Given the description of an element on the screen output the (x, y) to click on. 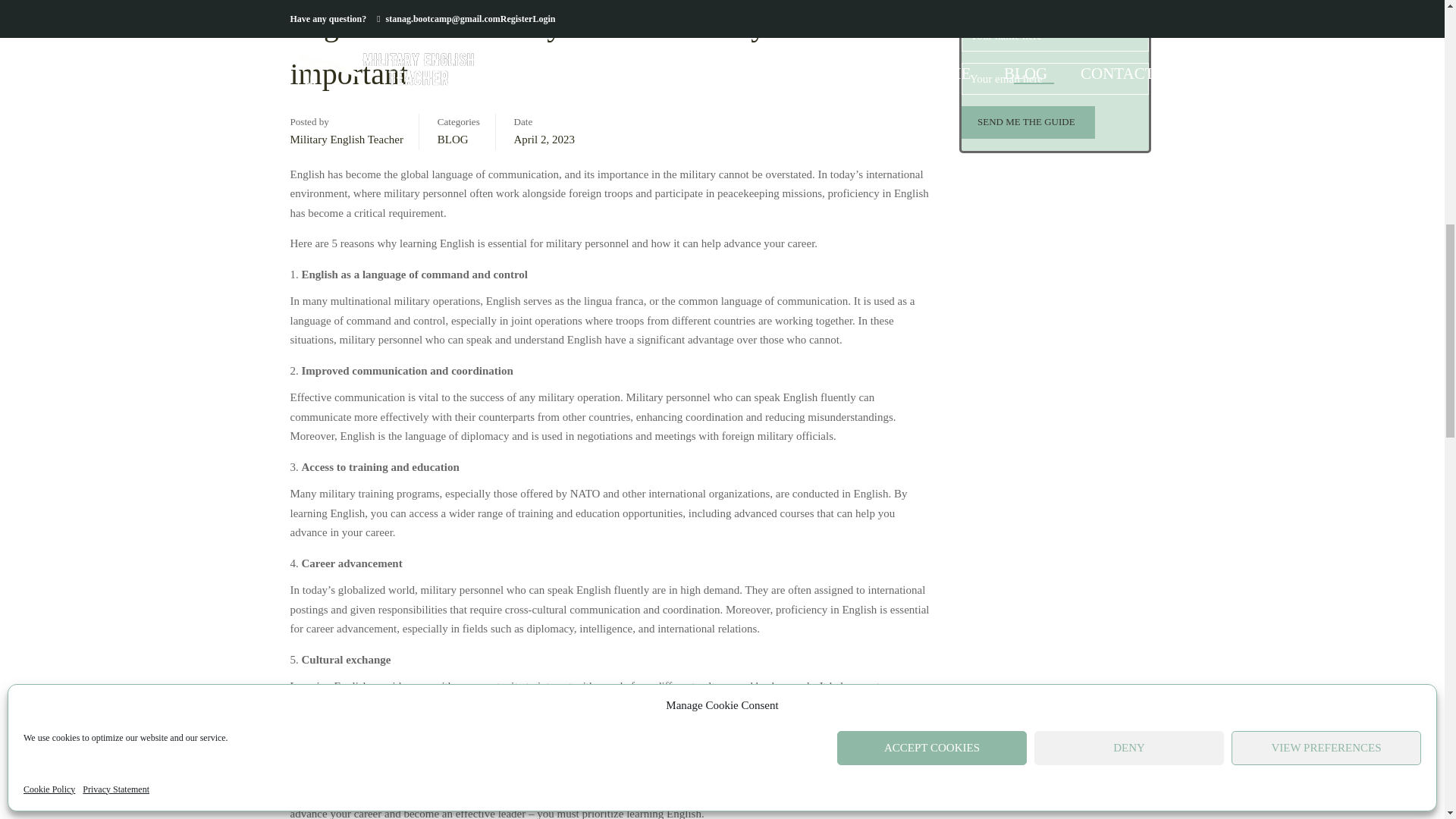
Send me the Guide (1026, 122)
